Given the description of an element on the screen output the (x, y) to click on. 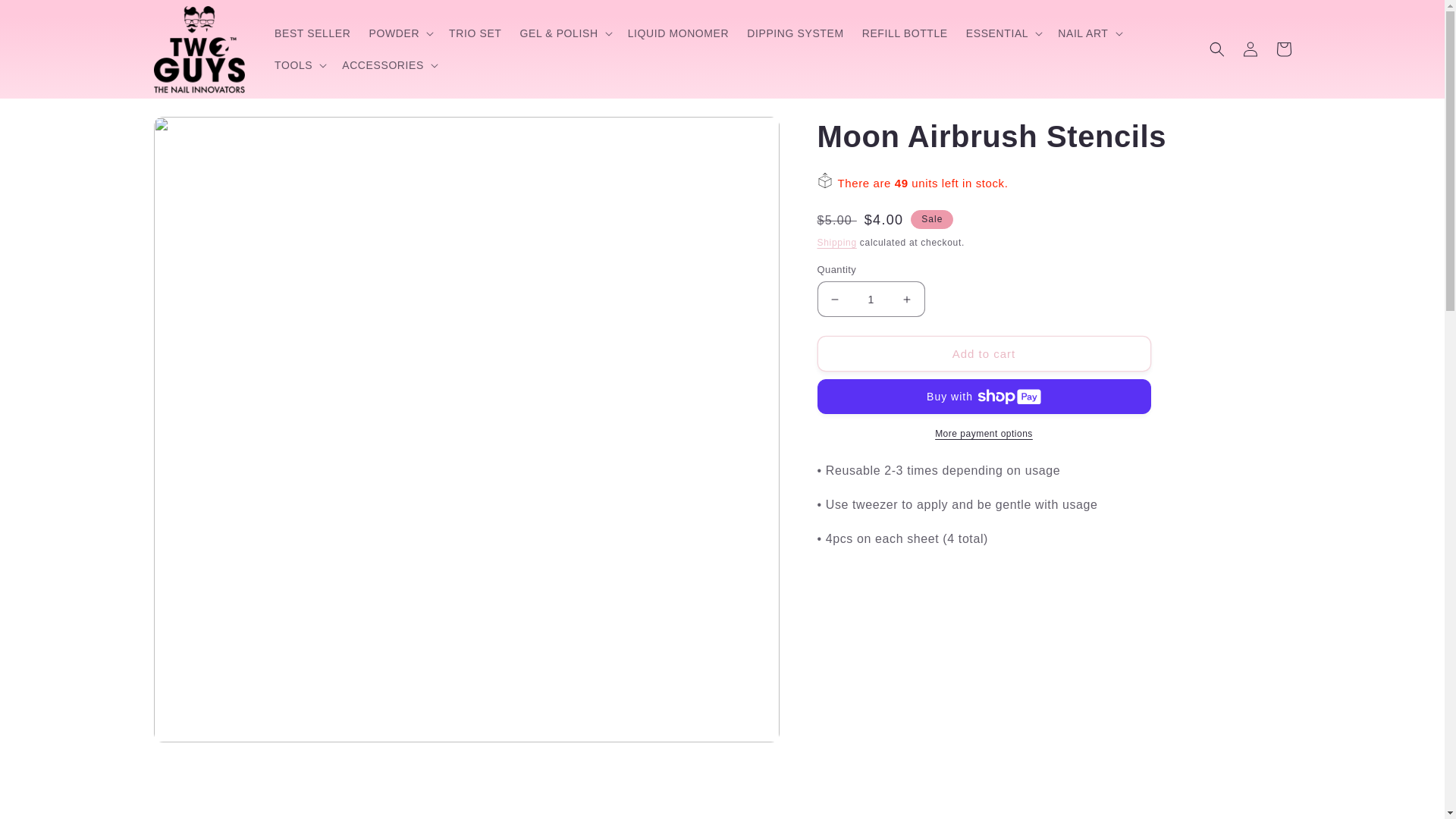
More payment options Element type: text (984, 433)
DIPPING SYSTEM Element type: text (794, 33)
YouTube video player Element type: hover (1029, 680)
Skip to product information Element type: text (199, 133)
Add to cart Element type: text (984, 353)
Log in Element type: text (1249, 48)
Cart Element type: text (1282, 48)
BEST SELLER Element type: text (312, 33)
LIQUID MONOMER Element type: text (678, 33)
REFILL BOTTLE Element type: text (905, 33)
Increase quantity for Moon Airbrush Stencils Element type: text (907, 298)
Shipping Element type: text (836, 242)
Decrease quantity for Moon Airbrush Stencils Element type: text (834, 298)
TRIO SET Element type: text (474, 33)
